Given the description of an element on the screen output the (x, y) to click on. 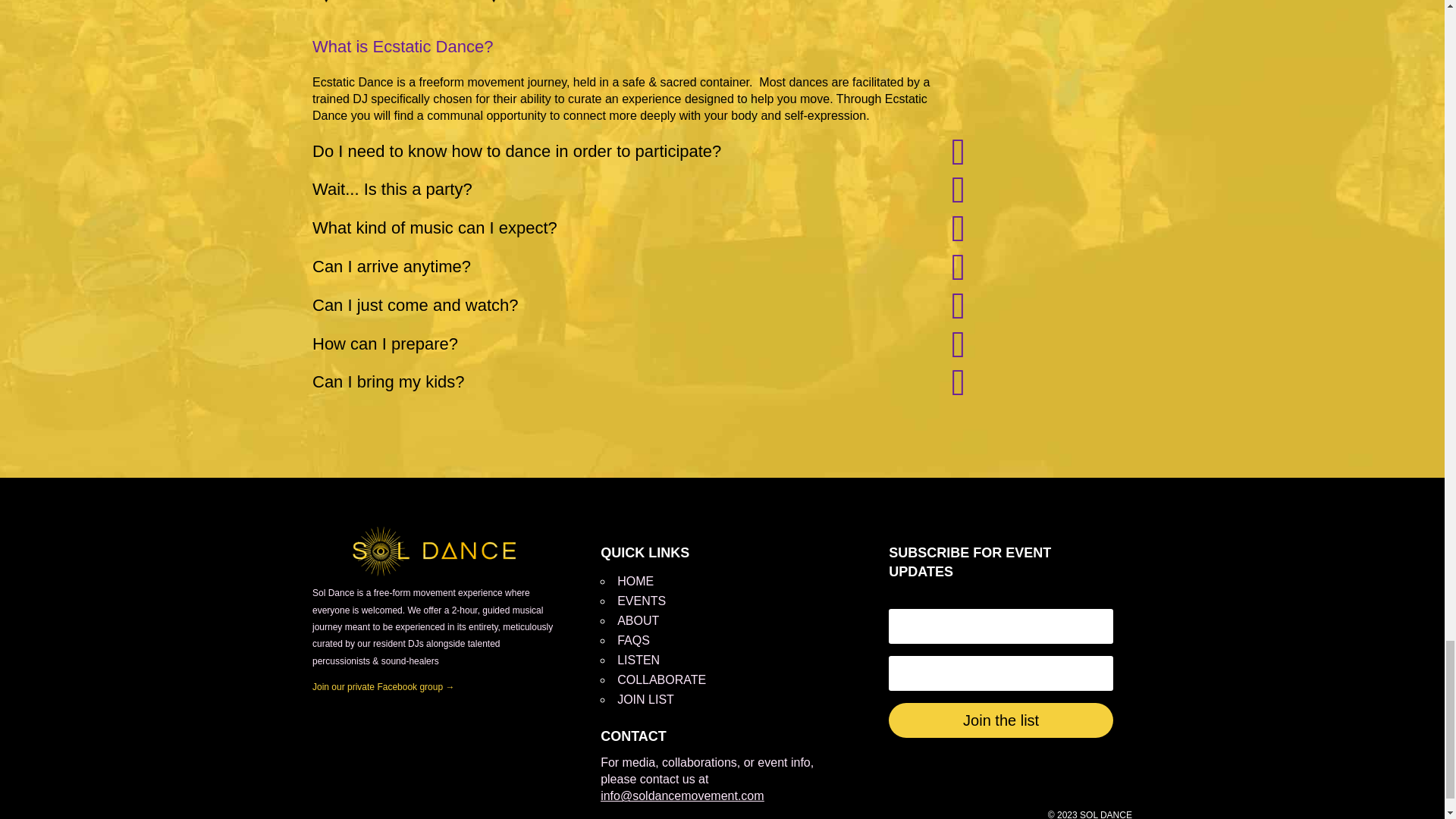
EVENTS (641, 600)
logogoldSMALL (433, 551)
ABOUT (638, 620)
dividerBALCK (409, 4)
HOME (635, 581)
